Given the description of an element on the screen output the (x, y) to click on. 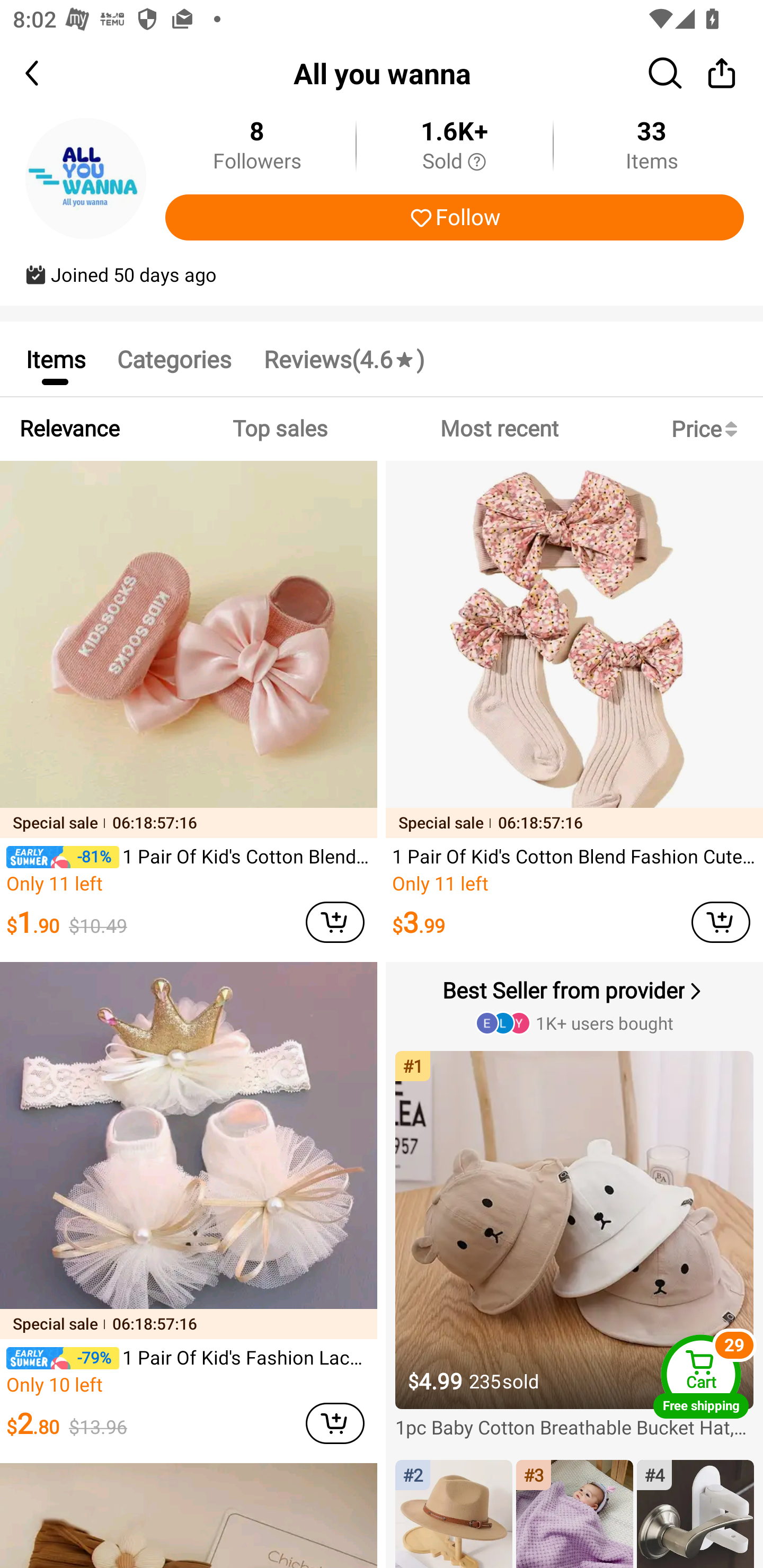
back (47, 72)
All you wanna (381, 72)
share (721, 72)
Sold (453, 161)
Items (55, 358)
Categories (174, 358)
Reviews(4.6 ) (343, 358)
Relevance (69, 428)
Top sales (279, 428)
Most recent (498, 428)
Price (707, 428)
Best Seller from provider 1K+ users bought (576, 1004)
